Given the description of an element on the screen output the (x, y) to click on. 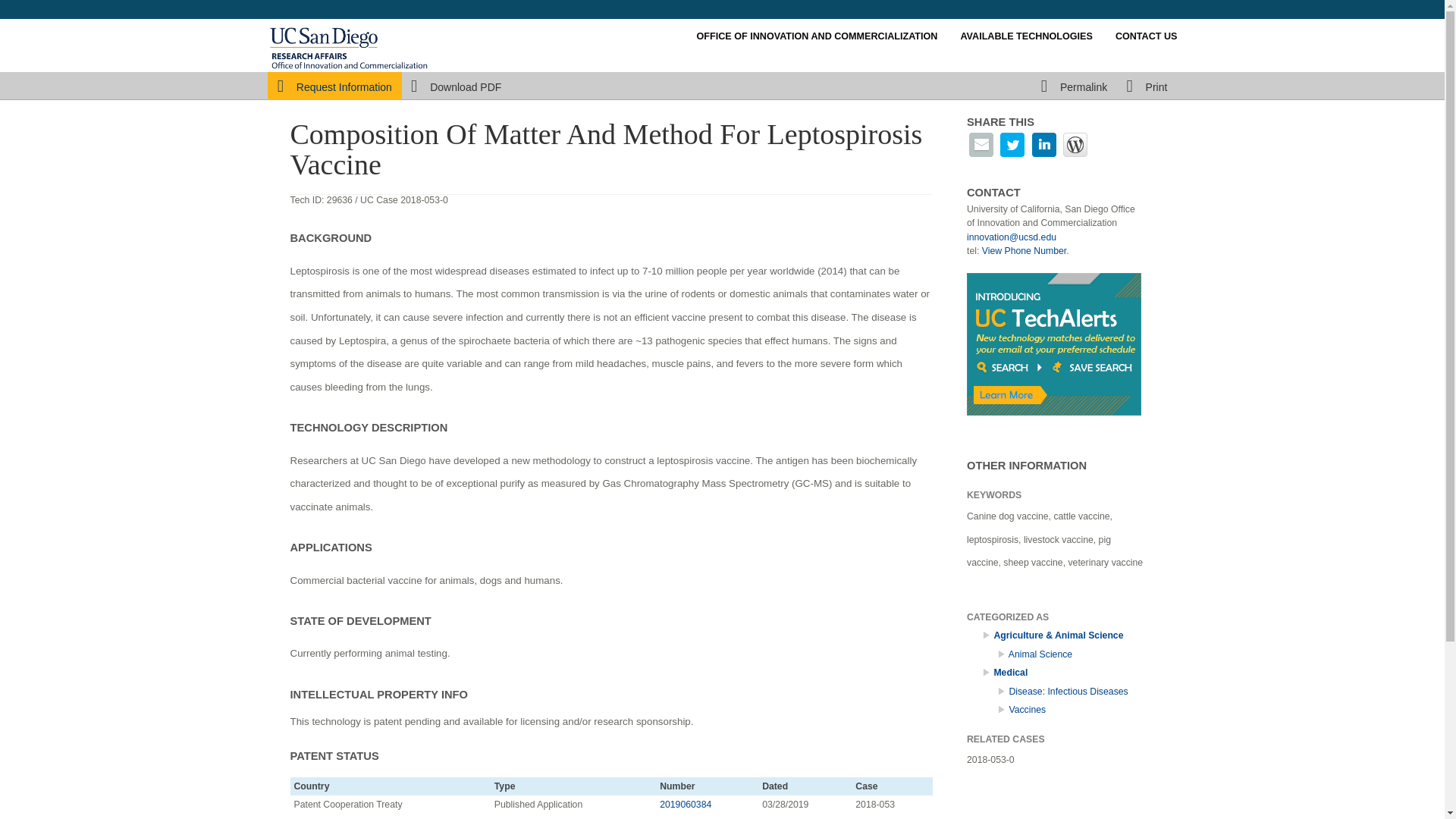
Permalink (1073, 86)
Request Information (334, 86)
Download PDF (455, 86)
Print (1146, 86)
Animal Science (1040, 654)
Available Technologies (1026, 36)
2019060384 (685, 804)
AVAILABLE TECHNOLOGIES (1026, 36)
Vaccines (1027, 709)
